Given the description of an element on the screen output the (x, y) to click on. 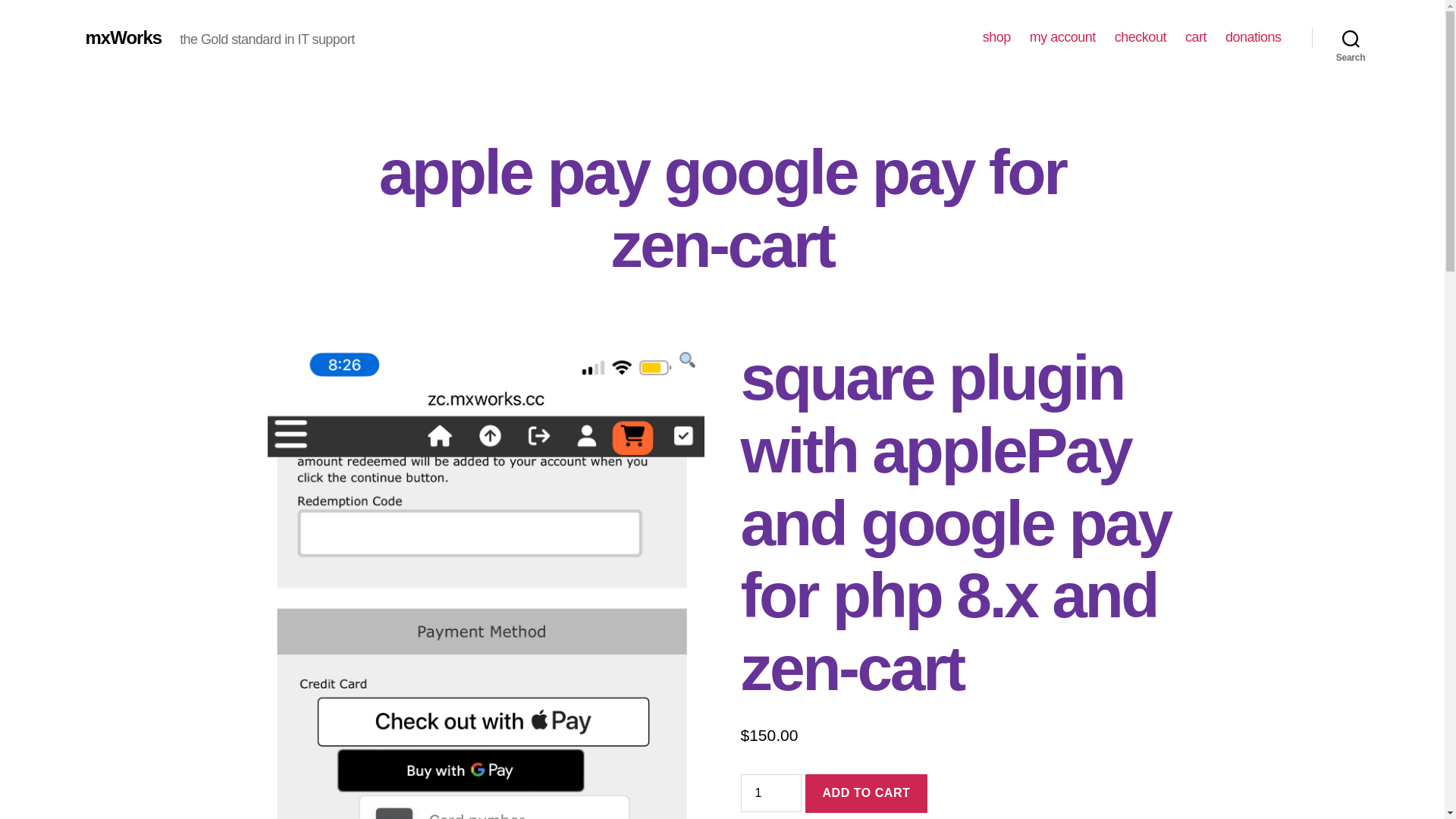
Search (1350, 37)
donations (1253, 37)
1 (769, 792)
shop (996, 37)
checkout (1140, 37)
mxWorks (122, 37)
ADD TO CART (866, 793)
my account (1062, 37)
cart (1196, 37)
